Given the description of an element on the screen output the (x, y) to click on. 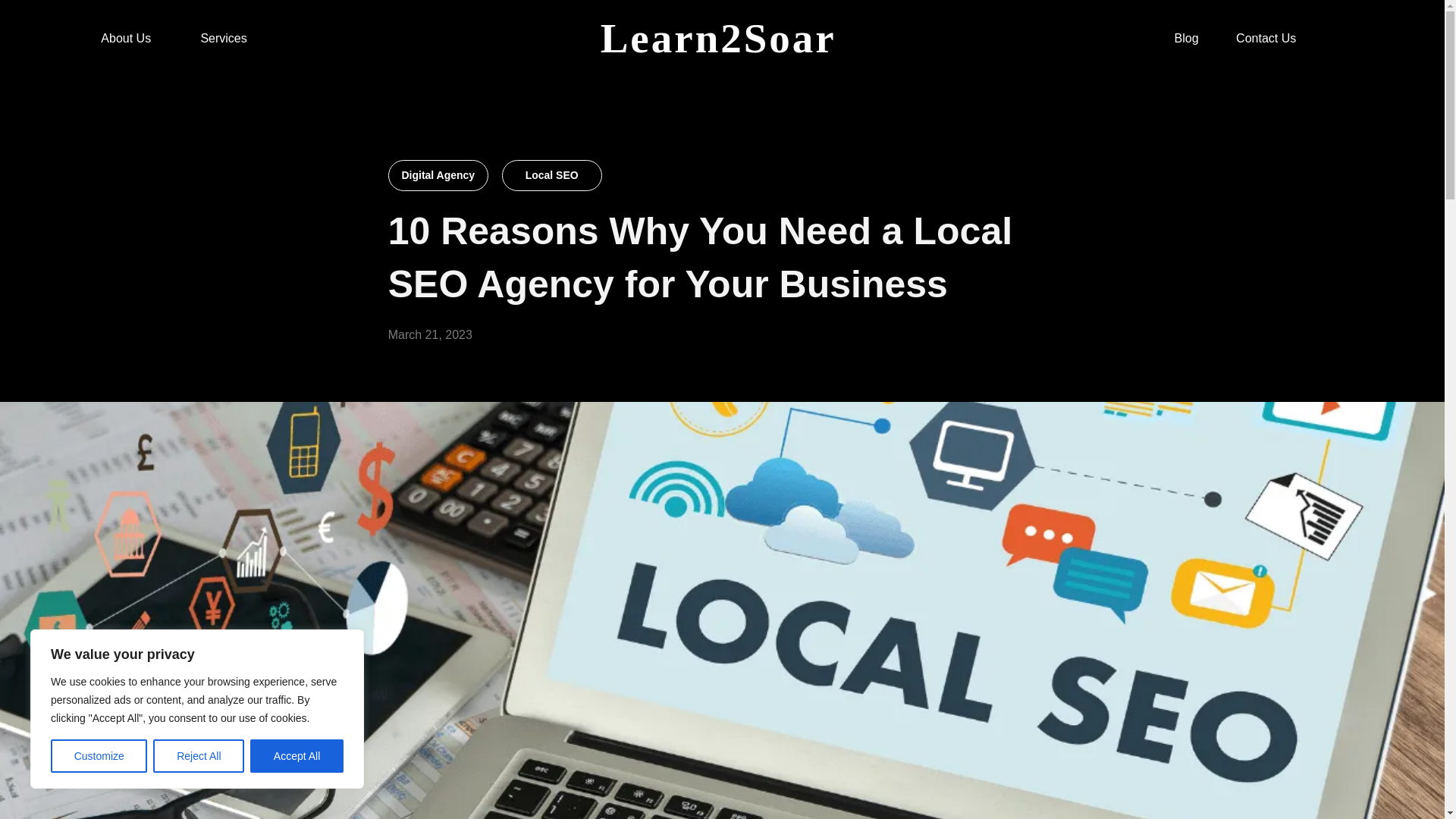
Local SEO (552, 174)
Customize (98, 756)
Reject All (198, 756)
Digital Agency (437, 174)
Services (223, 38)
Local SEO (552, 174)
Digital Agency (437, 174)
Accept All (296, 756)
About Us (125, 38)
Contact Us (1265, 38)
